Given the description of an element on the screen output the (x, y) to click on. 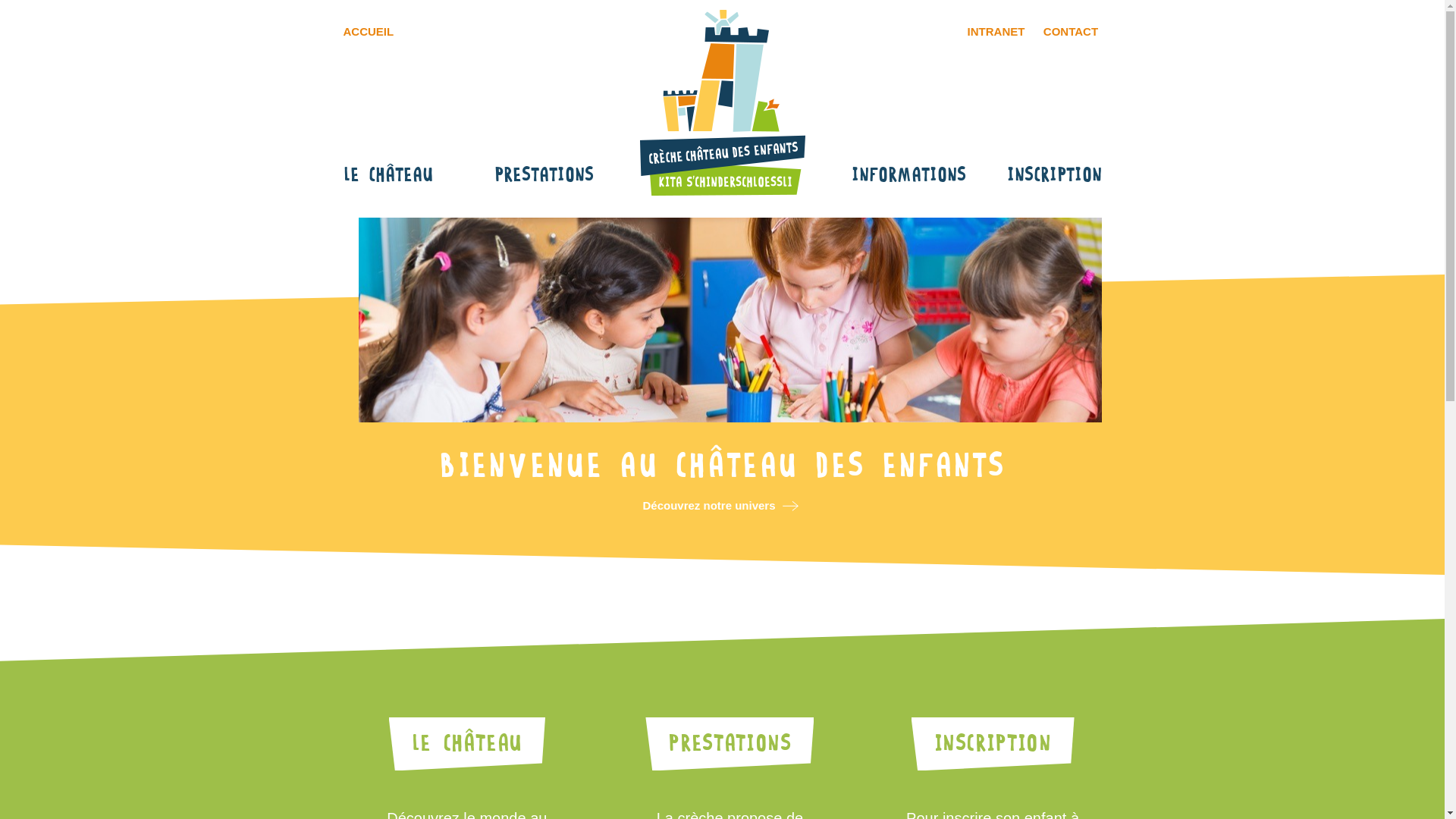
INFORMATIONS Element type: text (907, 175)
INSCRIPTION Element type: text (1054, 175)
ACCUEIL Element type: text (368, 31)
CONTACT Element type: text (1070, 31)
chateaudesenfants.ch Element type: text (721, 102)
PRESTATIONS Element type: text (543, 175)
INTRANET Element type: text (996, 31)
